Given the description of an element on the screen output the (x, y) to click on. 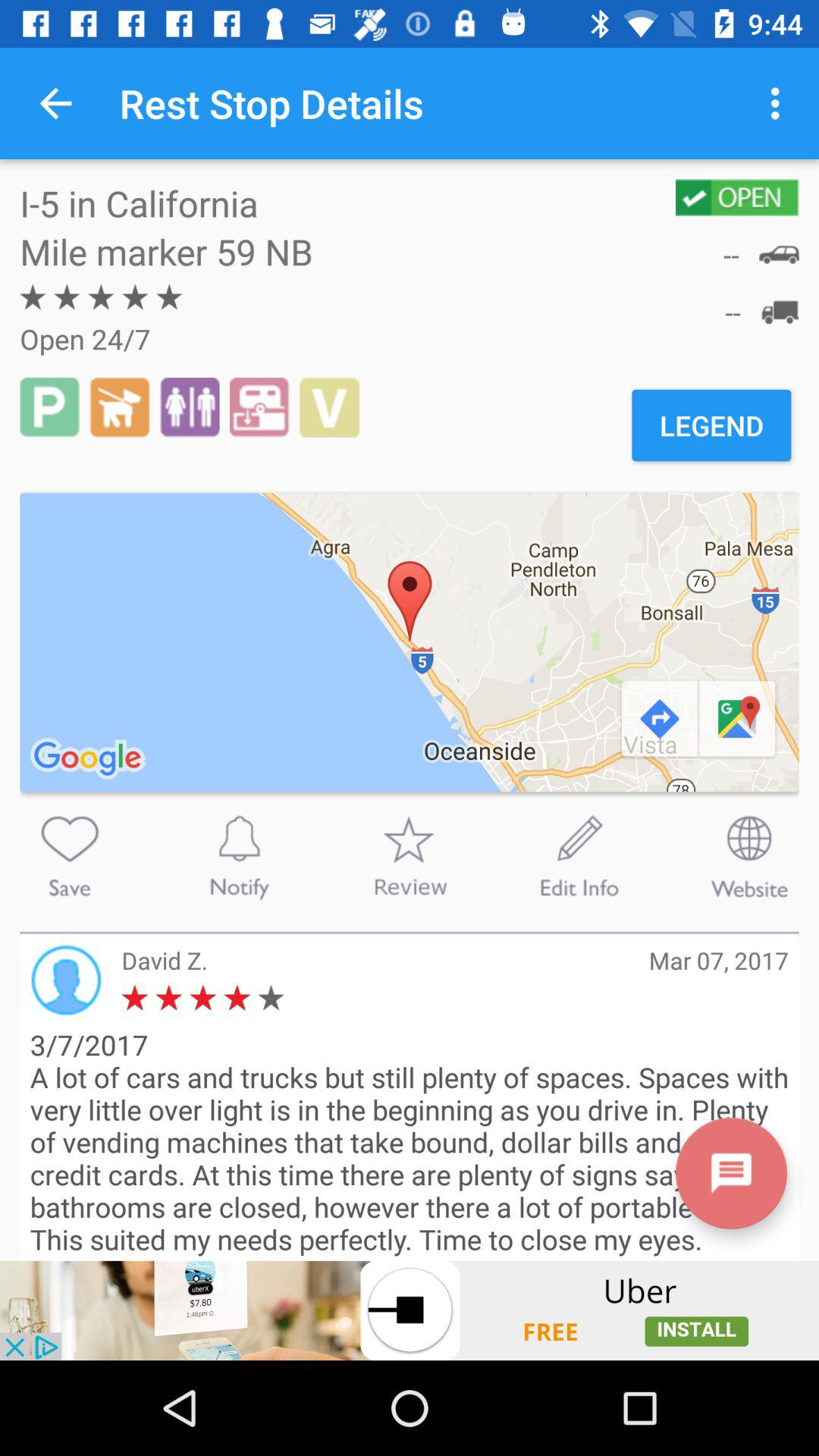
view advertisement (409, 1310)
